Given the description of an element on the screen output the (x, y) to click on. 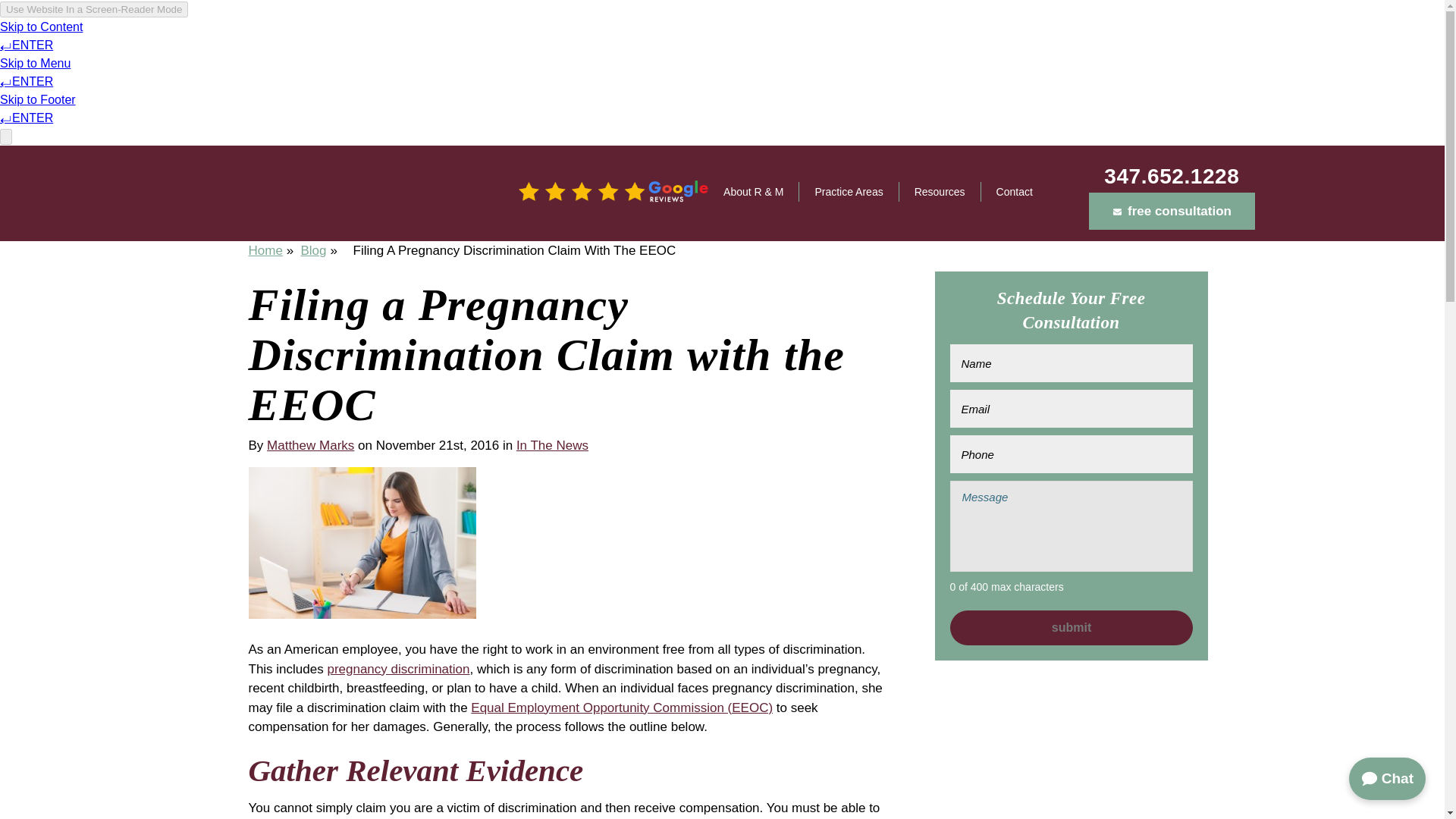
submit (1070, 627)
Posts by Matthew Marks (309, 445)
